Given the description of an element on the screen output the (x, y) to click on. 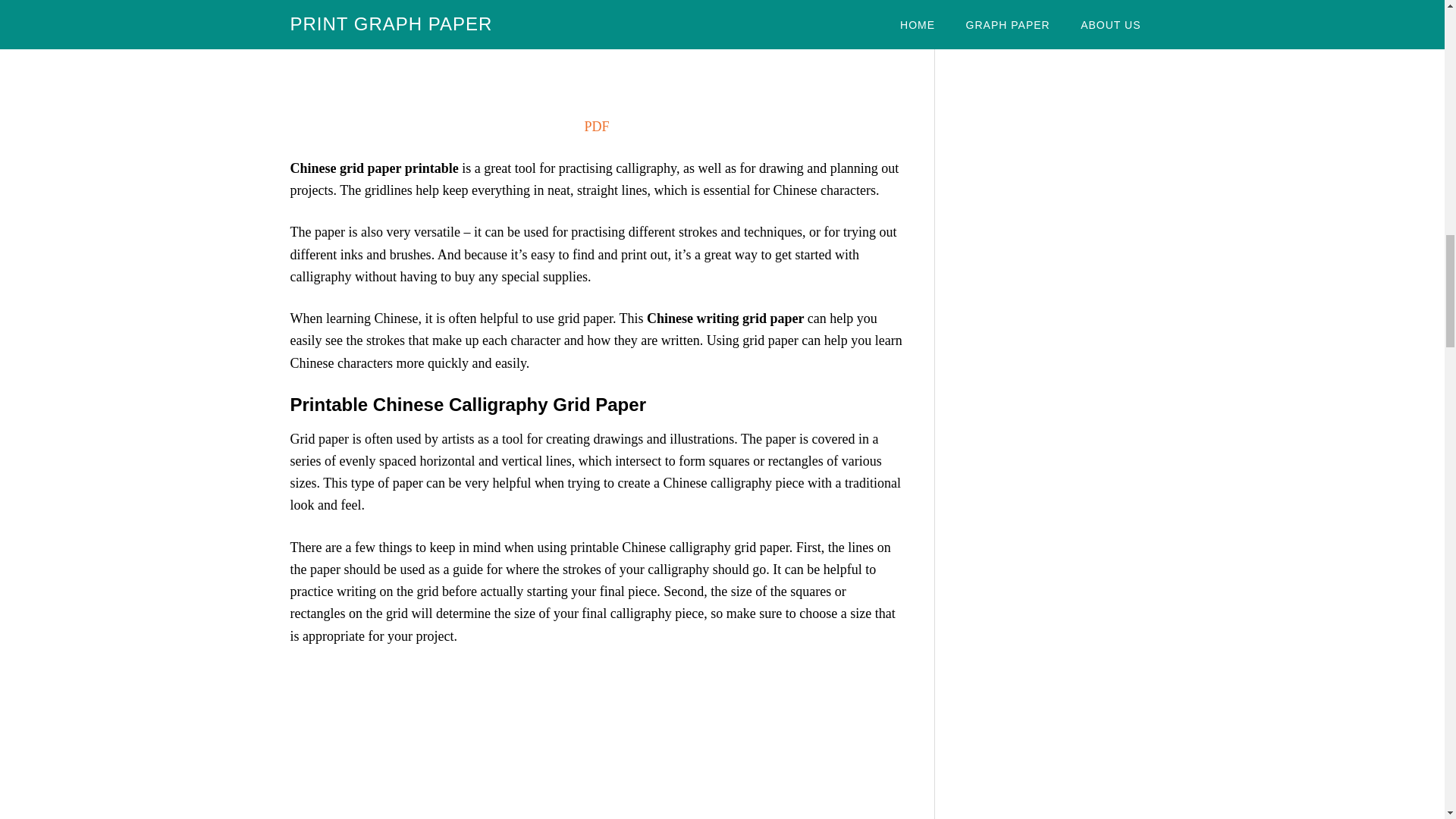
PDF (595, 125)
